Given the description of an element on the screen output the (x, y) to click on. 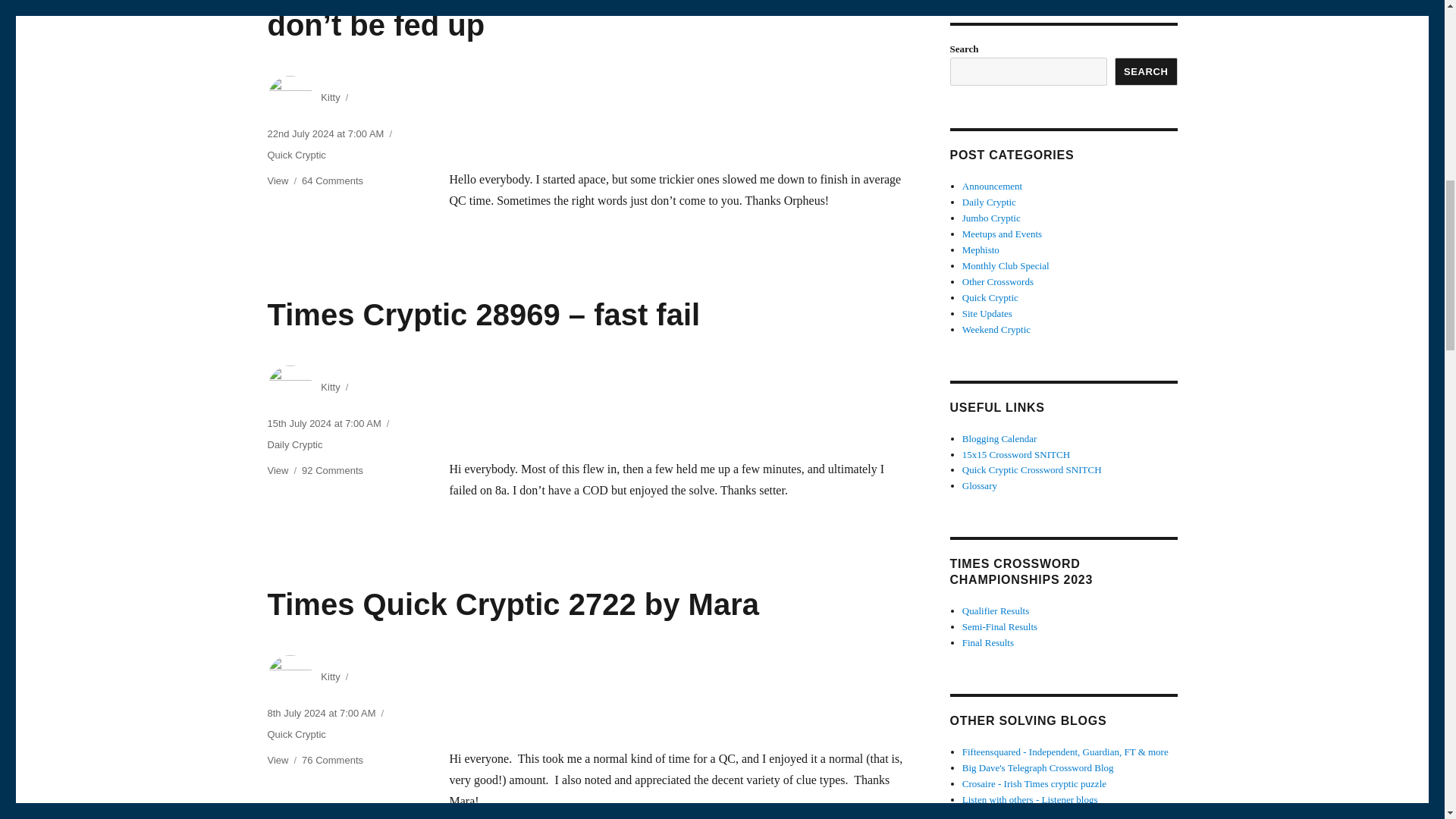
Kitty (329, 676)
15th July 2024 at 7:00 AM (323, 423)
View (277, 180)
Daily Cryptic (293, 444)
8th July 2024 at 7:00 AM (320, 713)
View (277, 470)
Quick Cryptic (295, 154)
Kitty (329, 97)
Quick Cryptic (295, 734)
Times Quick Cryptic 2722 by Mara (512, 604)
22nd July 2024 at 7:00 AM (325, 133)
Kitty (329, 387)
